Given the description of an element on the screen output the (x, y) to click on. 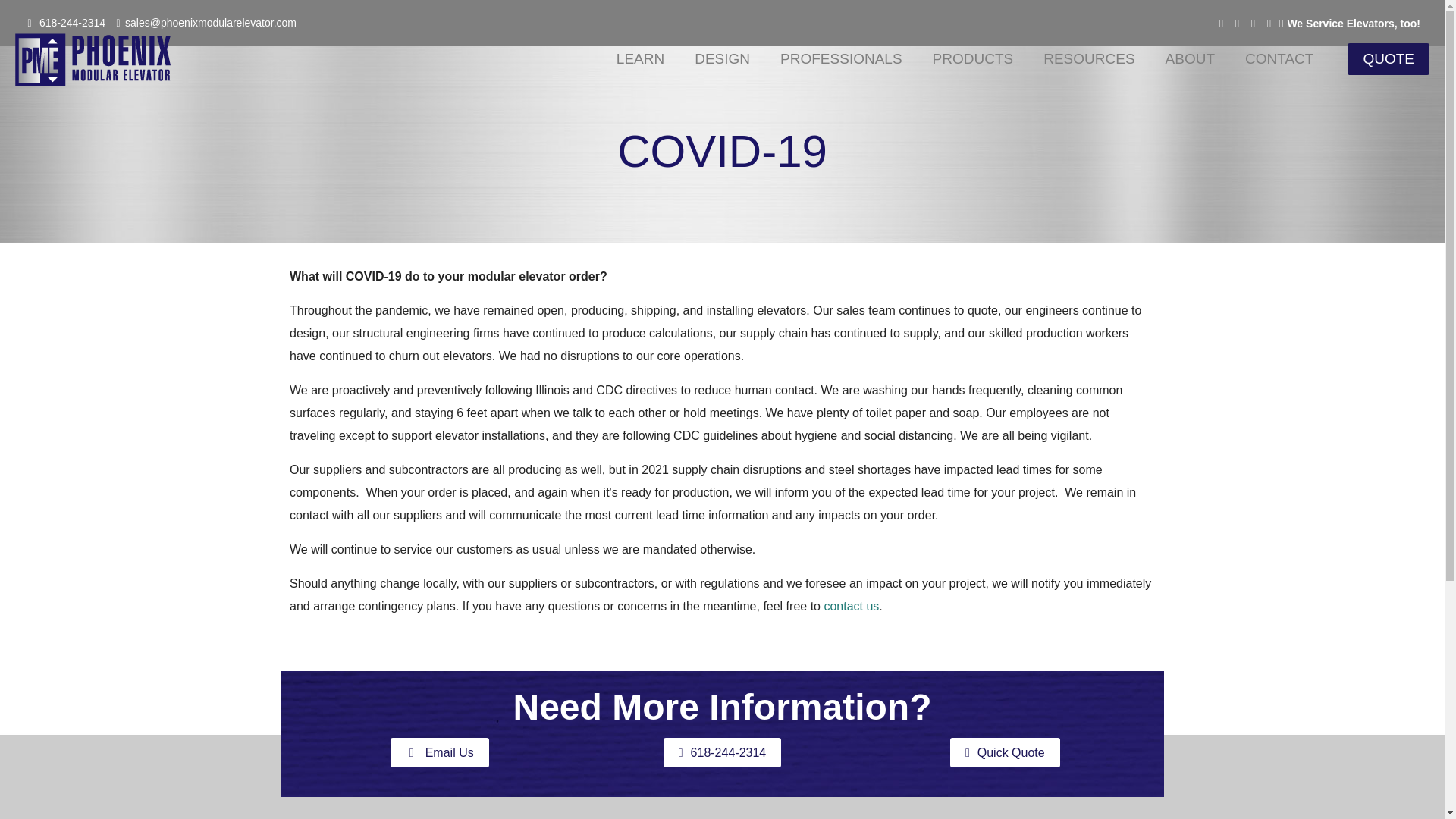
618-244-2314 (70, 22)
PRODUCTS (973, 59)
Phoenix Modular Elevator (92, 59)
RESOURCES (1088, 59)
PROFESSIONALS (841, 59)
Phoenix Elevator Service (1350, 22)
LEARN (640, 59)
DESIGN (722, 59)
